Given the description of an element on the screen output the (x, y) to click on. 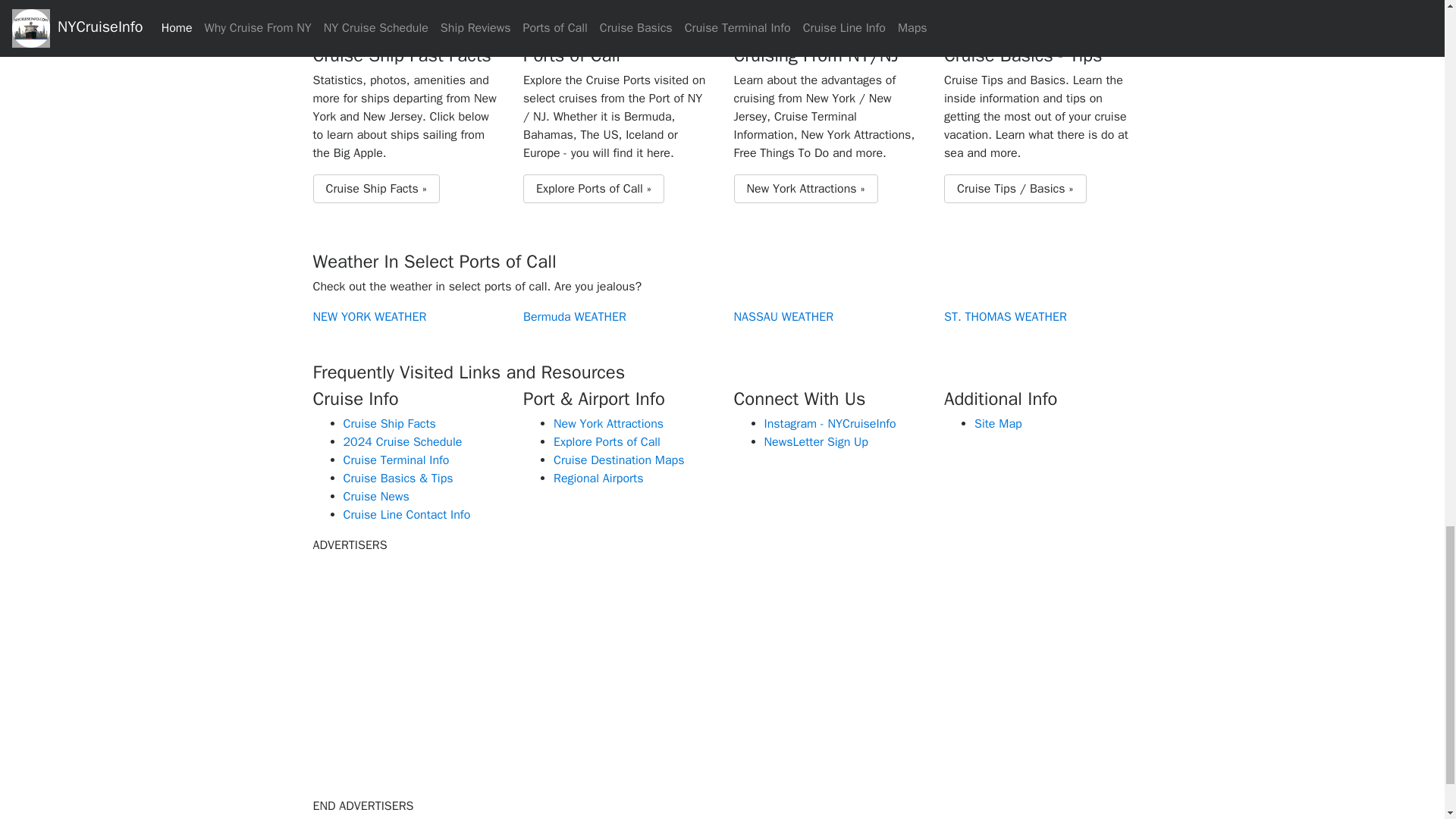
Advertisement (1002, 672)
Advertisement (721, 672)
Advertisement (441, 672)
